Given the description of an element on the screen output the (x, y) to click on. 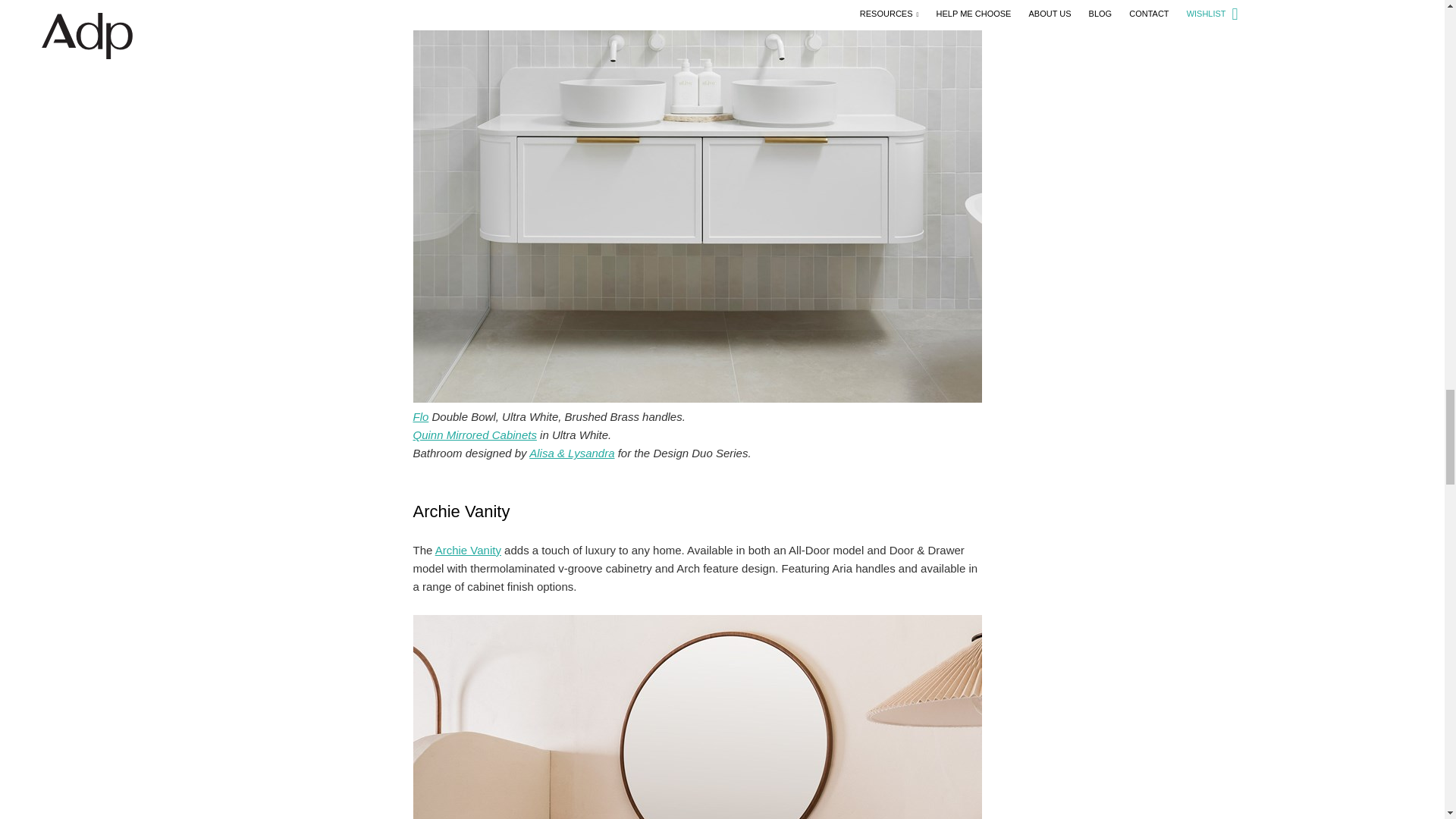
Archie (467, 549)
Quinn (473, 434)
Flo (420, 416)
